Given the description of an element on the screen output the (x, y) to click on. 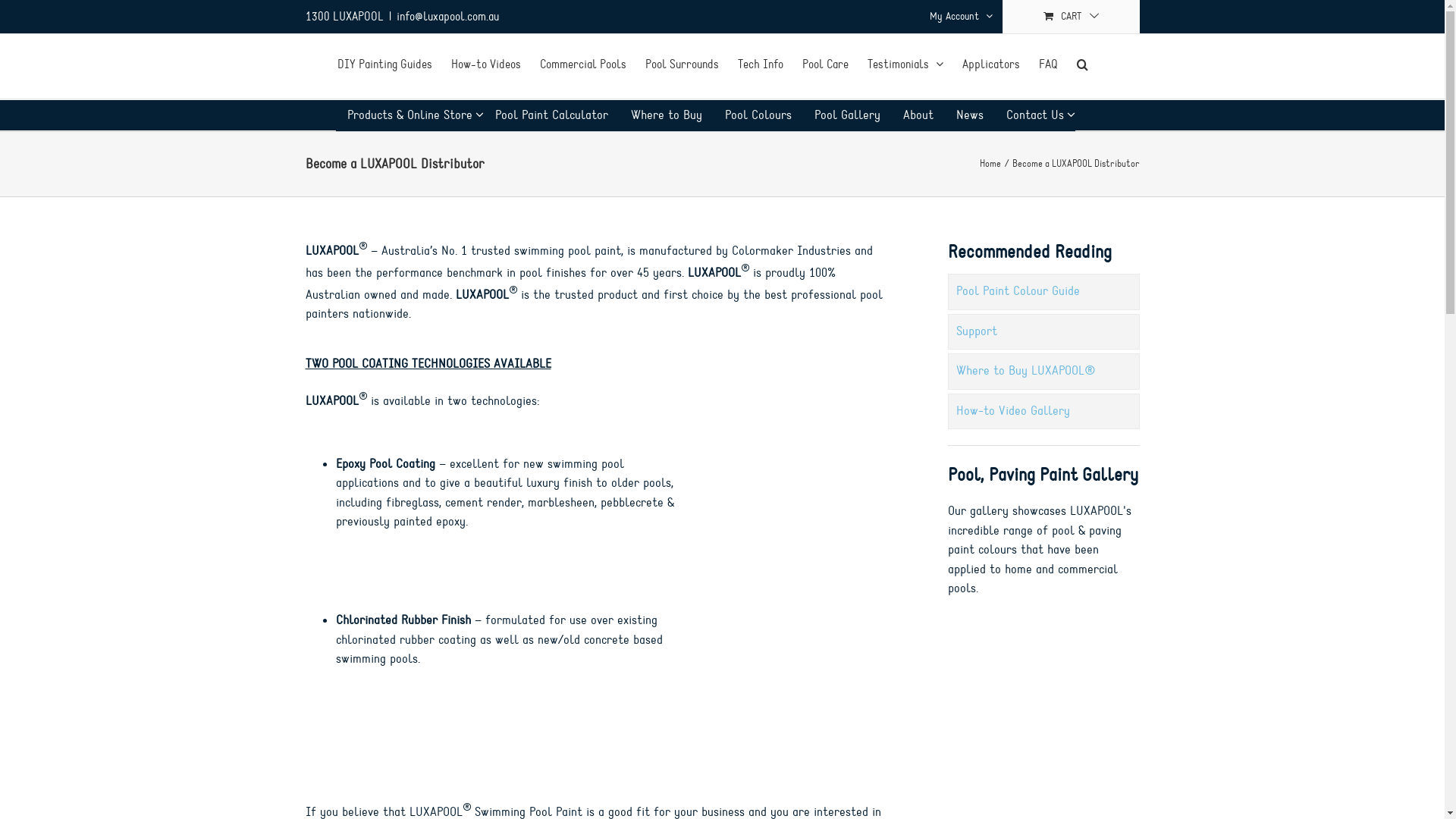
News Element type: text (969, 115)
Contact Us Element type: text (1034, 115)
Pool Surrounds Element type: text (681, 62)
Pool Paint Calculator Element type: text (551, 115)
FAQ Element type: text (1047, 62)
Tech Info Element type: text (760, 62)
About Element type: text (917, 115)
Support Element type: text (1043, 331)
Pool Colours Element type: text (757, 115)
Search Element type: hover (1082, 62)
Commercial Pools Element type: text (582, 62)
Applicators Element type: text (990, 62)
Testimonials Element type: text (905, 62)
Products & Online Store Element type: text (409, 115)
How-to Videos Element type: text (485, 62)
1300 LUXAPOOL Element type: text (343, 16)
info@luxapool.com.au Element type: text (446, 16)
Log In Element type: text (1011, 144)
Where to Buy Element type: text (665, 115)
Pool Gallery Element type: text (846, 115)
CART Element type: text (1070, 16)
Pool Paint Colour Guide Element type: text (1043, 291)
DIY Painting Guides Element type: text (384, 62)
Pool Care Element type: text (825, 62)
4l_luxapool_part_a_and_summer_hardener Element type: hover (793, 512)
How-to Video Gallery Element type: text (1043, 410)
My Account Element type: text (960, 16)
Home Element type: text (990, 163)
Chlor-Rubber_png Element type: hover (793, 691)
